Given the description of an element on the screen output the (x, y) to click on. 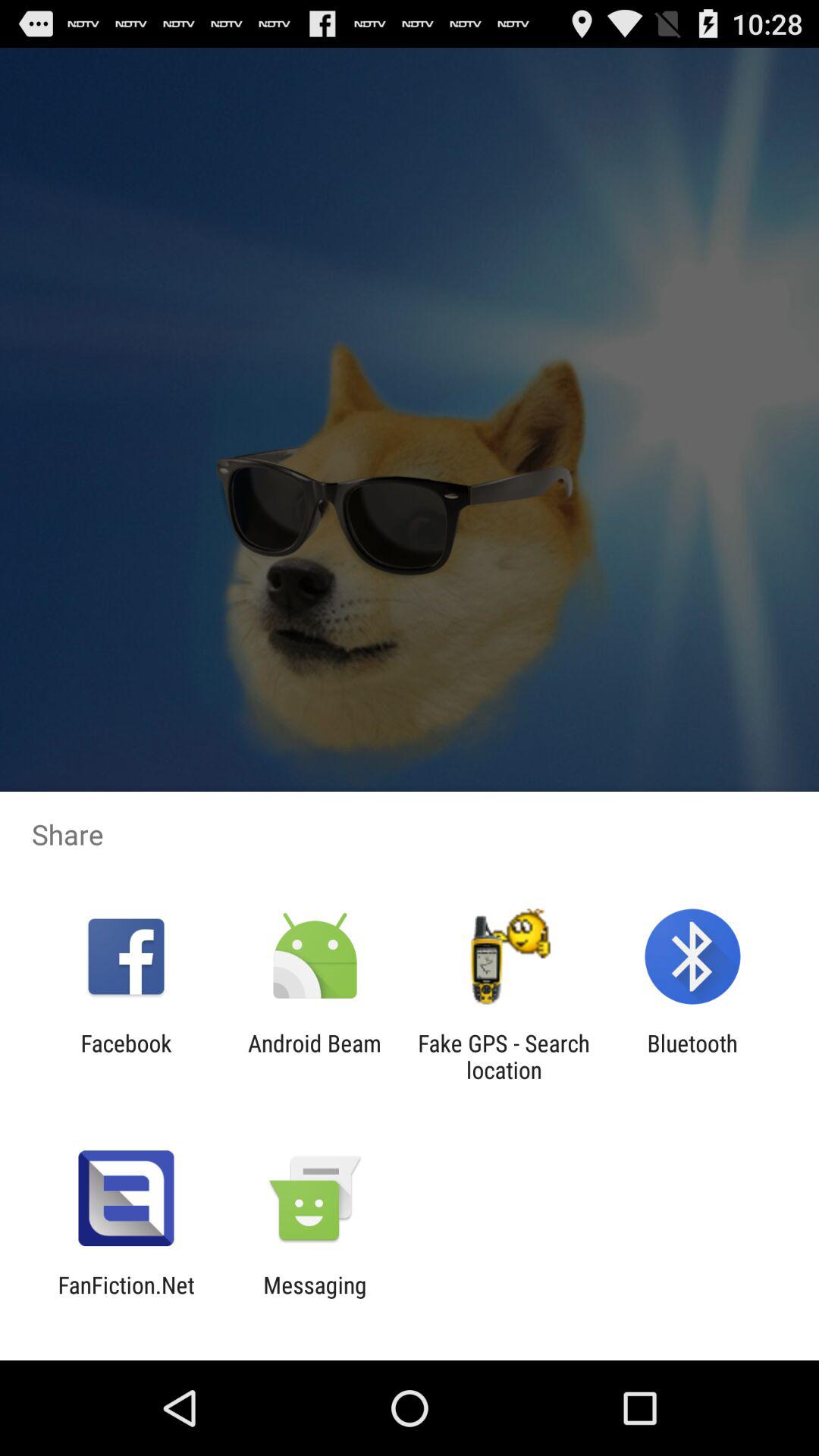
press the app to the right of fanfiction.net app (314, 1298)
